Given the description of an element on the screen output the (x, y) to click on. 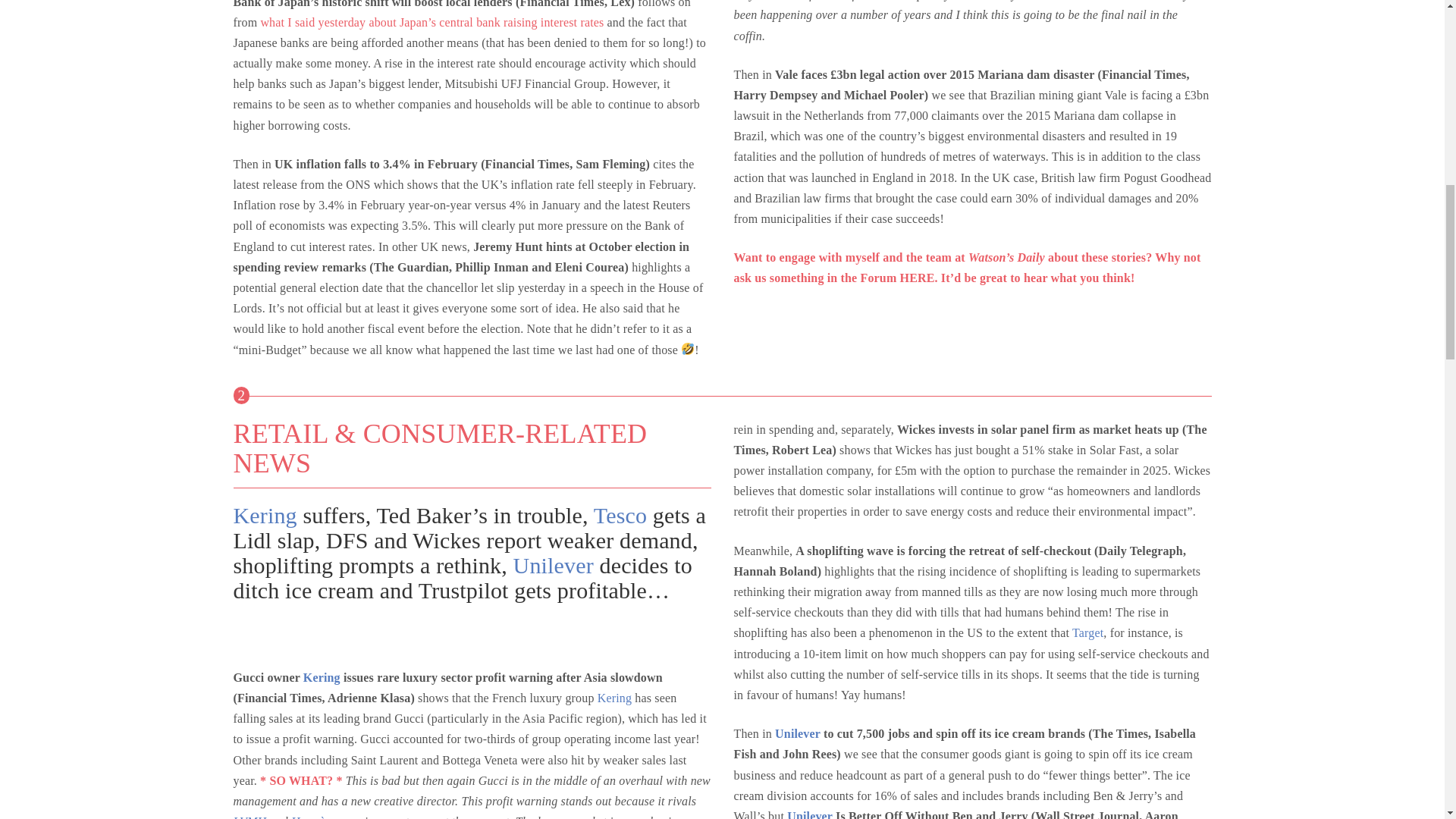
Kering (613, 697)
Kering (321, 676)
Unilever (553, 565)
HERE (916, 277)
LVMH (249, 816)
Kering (264, 514)
Tesco (620, 514)
